Given the description of an element on the screen output the (x, y) to click on. 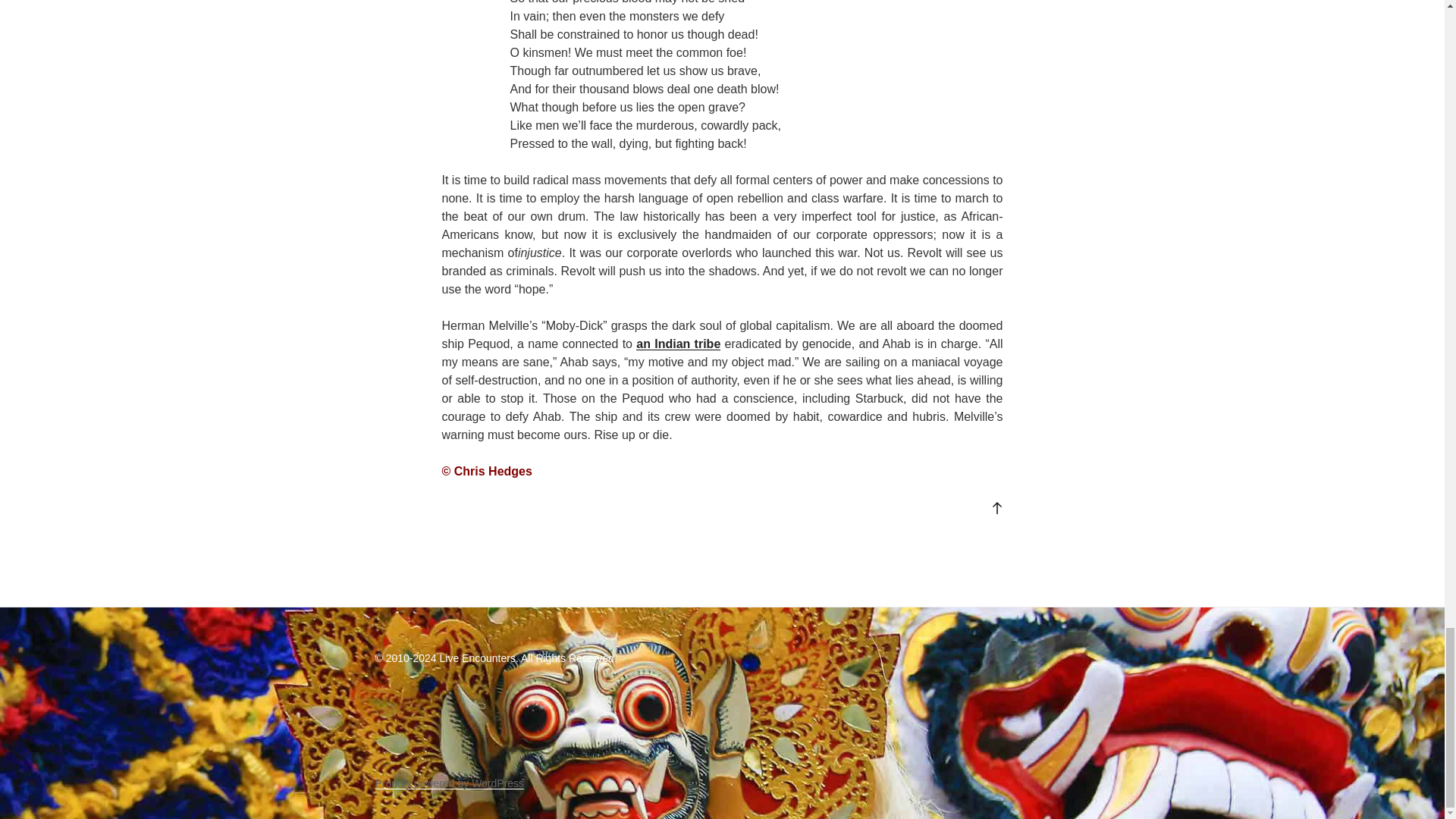
Proudly powered by WordPress (449, 783)
Back to top (996, 507)
an Indian tribe (678, 343)
